Given the description of an element on the screen output the (x, y) to click on. 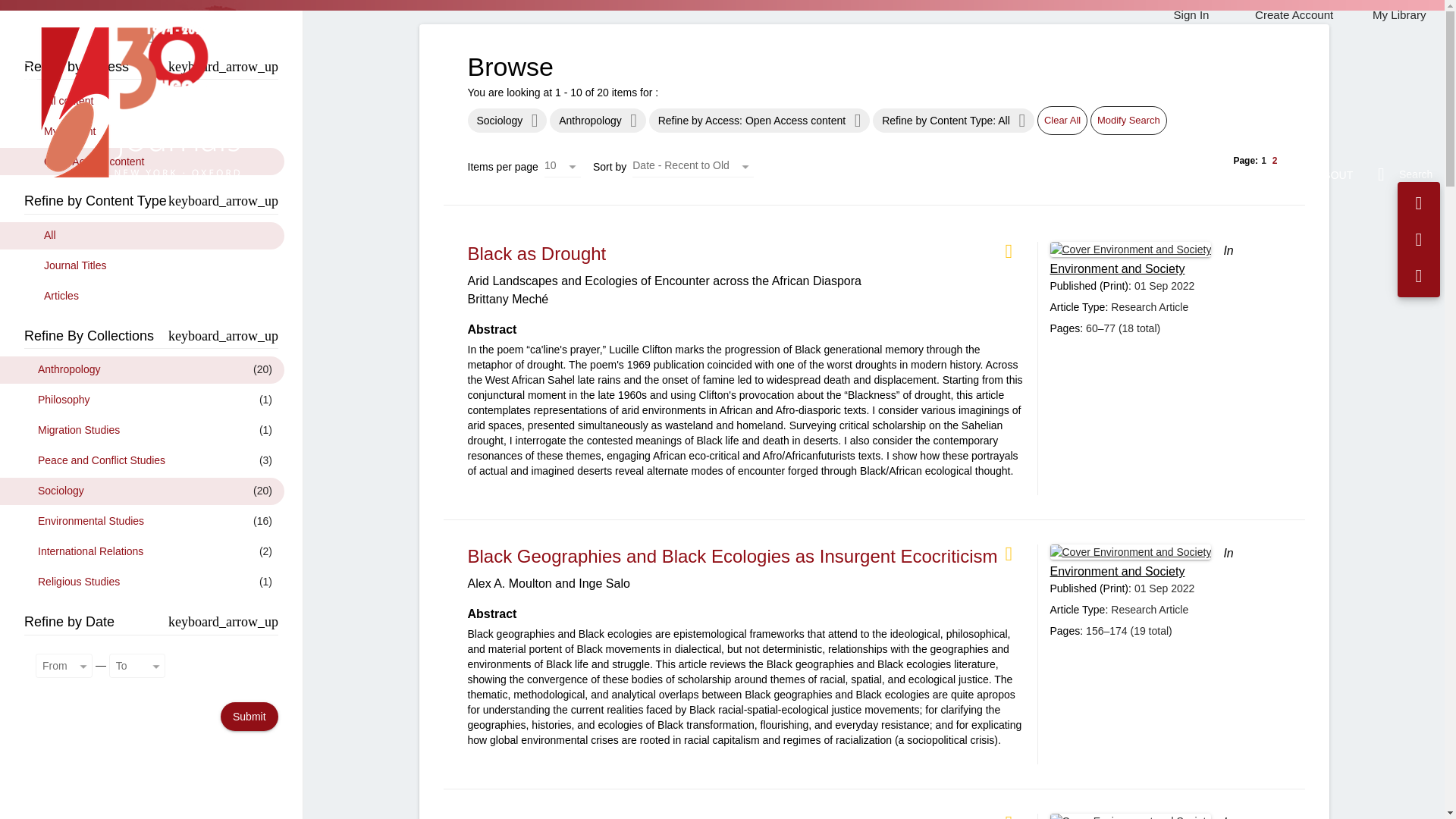
Jump to Content (40, 8)
